Given the description of an element on the screen output the (x, y) to click on. 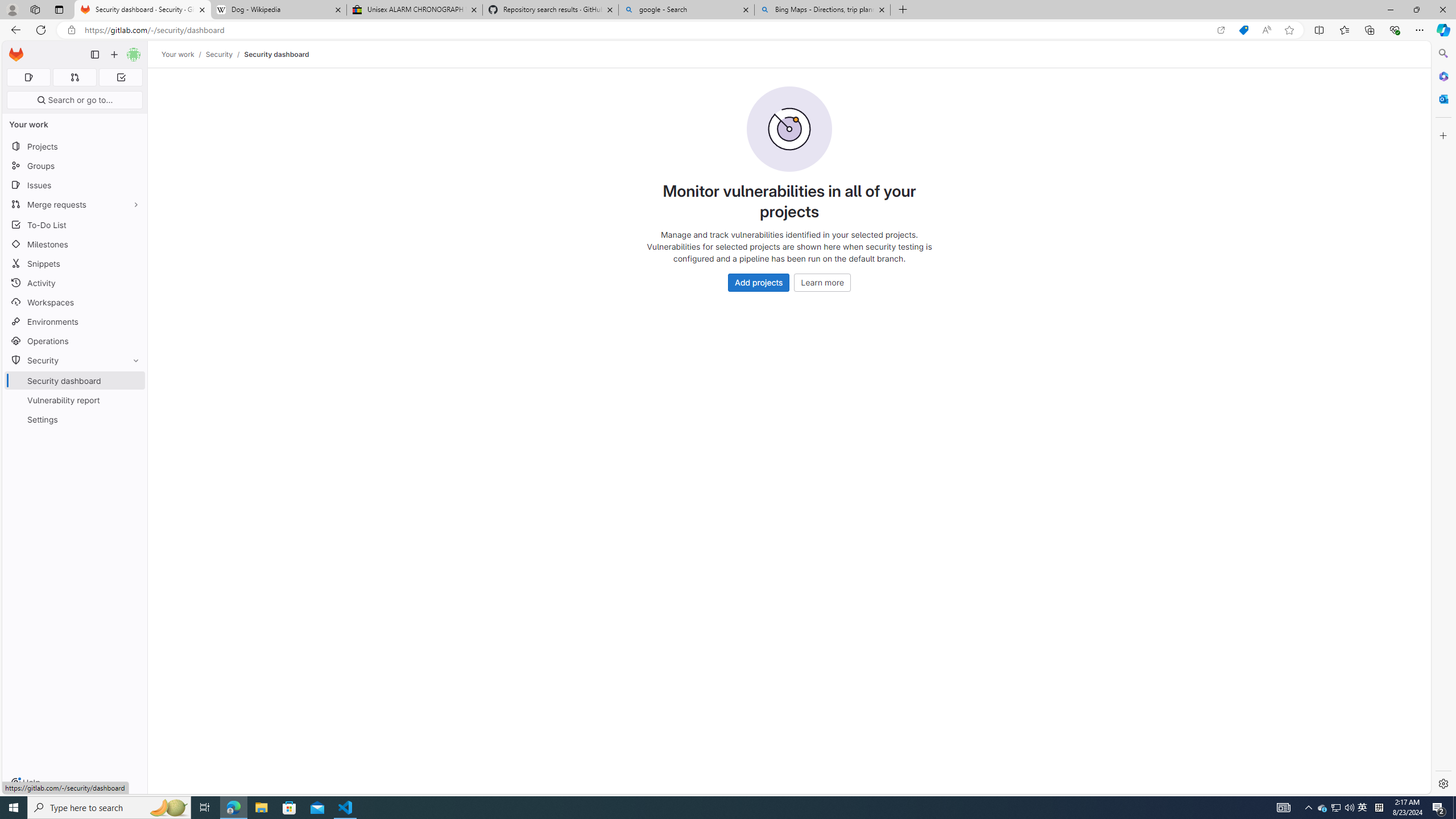
Personal Profile (12, 9)
Split screen (1318, 29)
Add this page to favorites (Ctrl+D) (1289, 29)
Settings (74, 419)
Tab actions menu (58, 9)
Security (218, 53)
Dog - Wikipedia (277, 9)
Shopping in Microsoft Edge (1243, 29)
Groups (74, 165)
Side bar (1443, 418)
Settings (1442, 783)
Workspaces (74, 302)
Milestones (74, 244)
Add projects (759, 282)
